Given the description of an element on the screen output the (x, y) to click on. 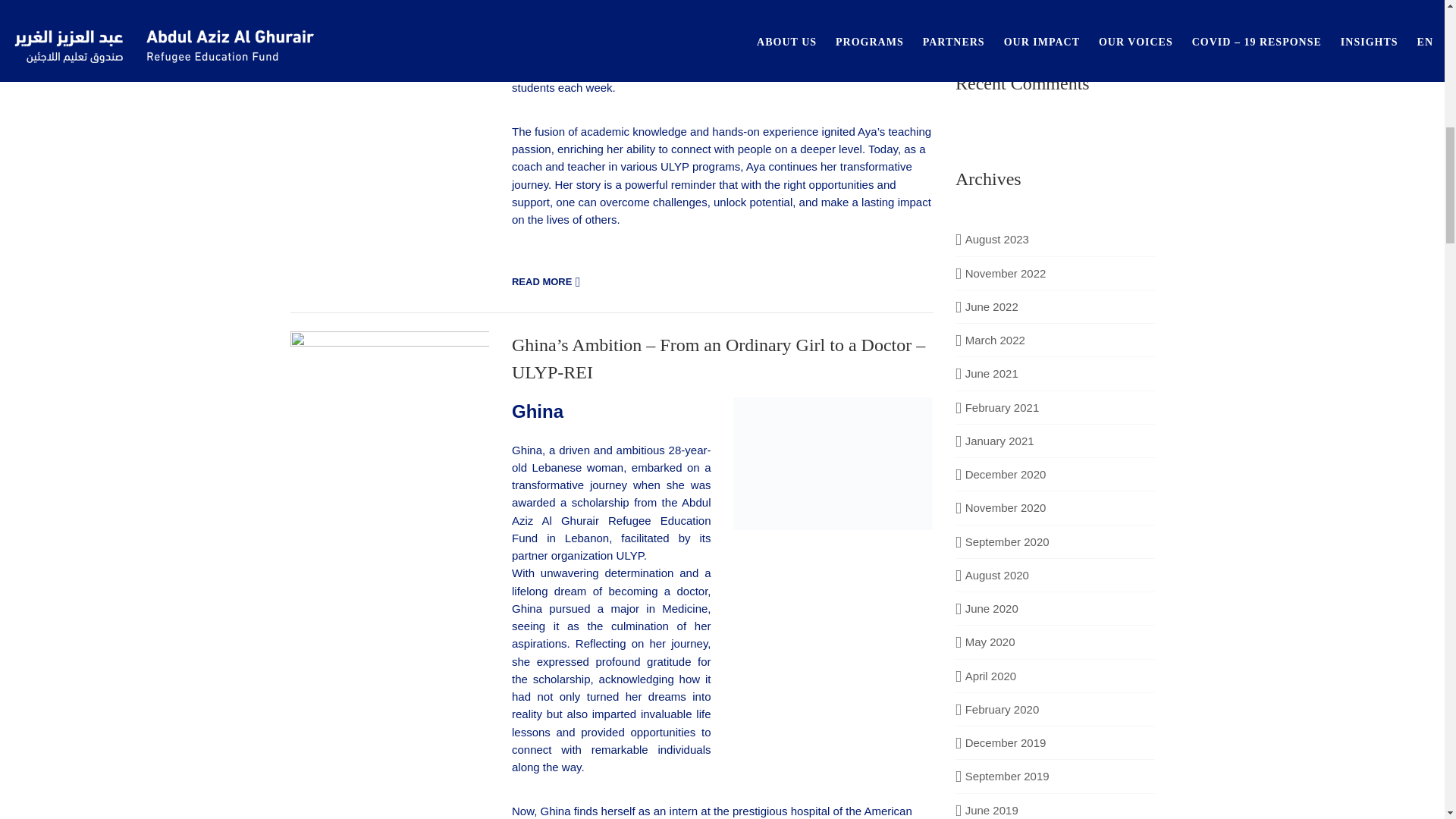
READ MORE (548, 282)
